Given the description of an element on the screen output the (x, y) to click on. 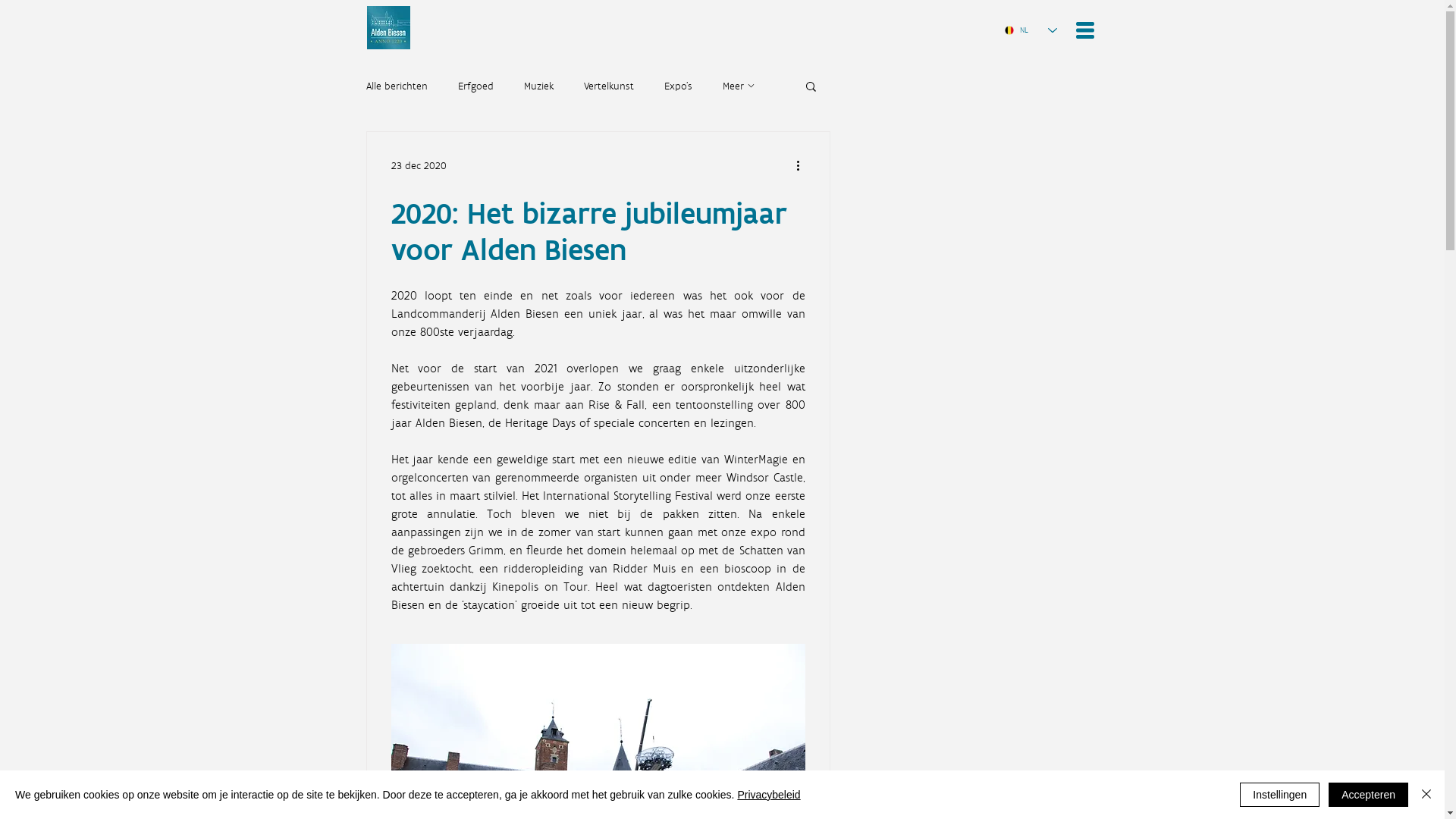
Vertelkunst Element type: text (608, 84)
Muziek Element type: text (537, 84)
Instellingen Element type: text (1279, 794)
Natuur Element type: text (737, 84)
Accepteren Element type: text (1368, 794)
Expo's Element type: text (678, 84)
Privacybeleid Element type: text (768, 794)
Erfgoed Element type: text (475, 84)
Alle berichten Element type: text (395, 84)
